Given the description of an element on the screen output the (x, y) to click on. 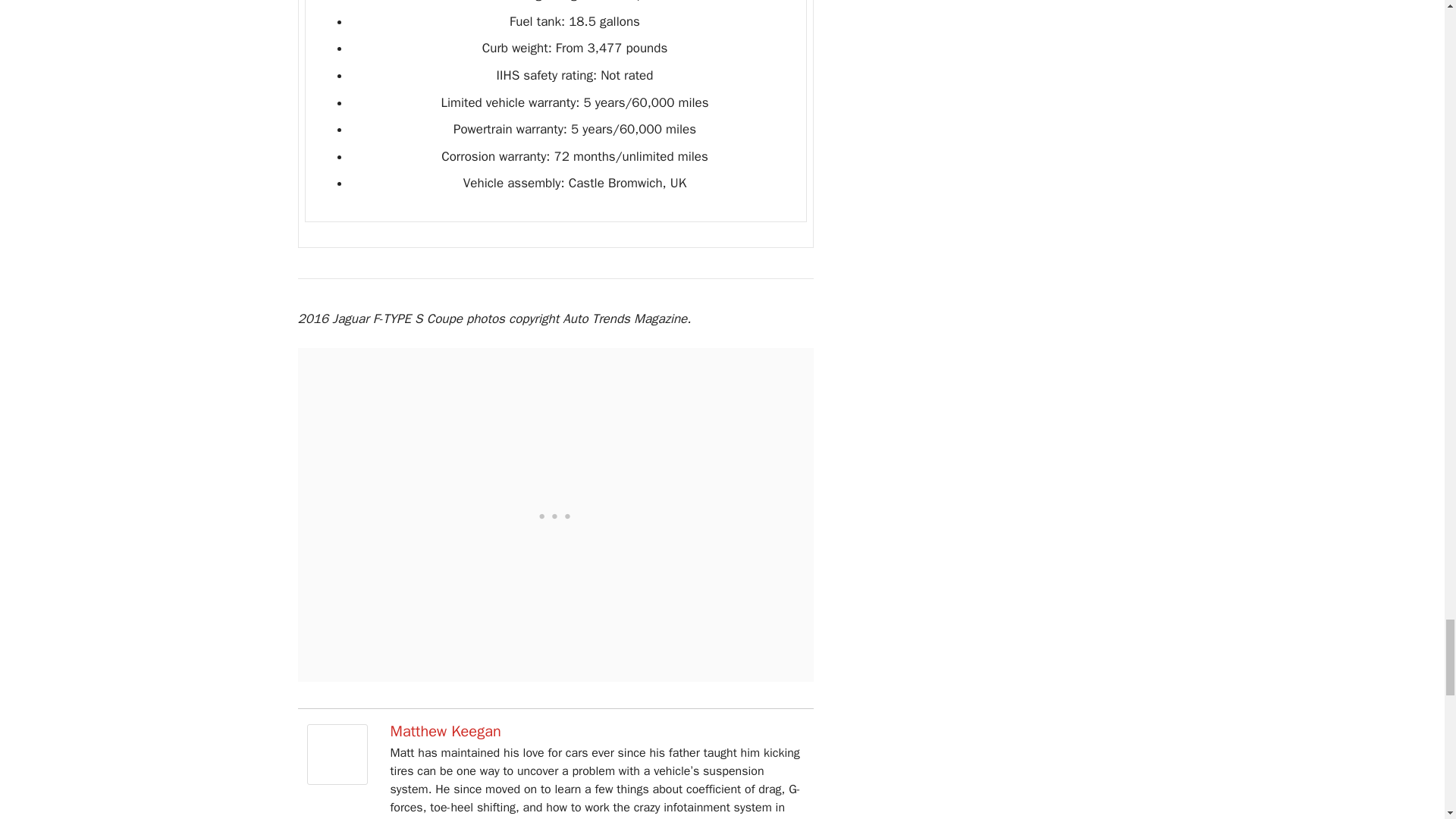
Matthew Keegan (335, 780)
Matthew Keegan (445, 731)
